Given the description of an element on the screen output the (x, y) to click on. 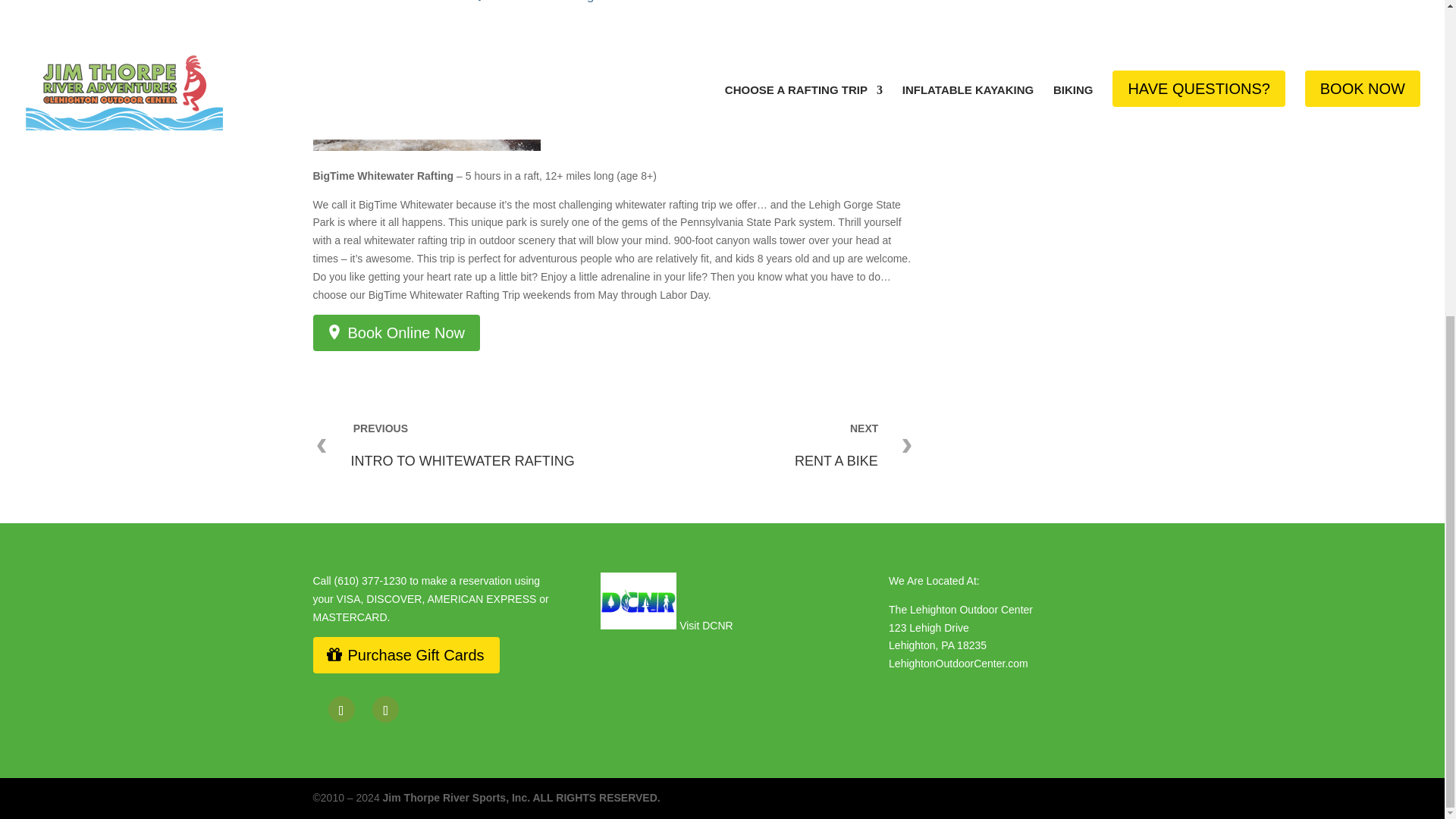
Book Online Now (396, 332)
Whitewater Rafting (533, 3)
